Given the description of an element on the screen output the (x, y) to click on. 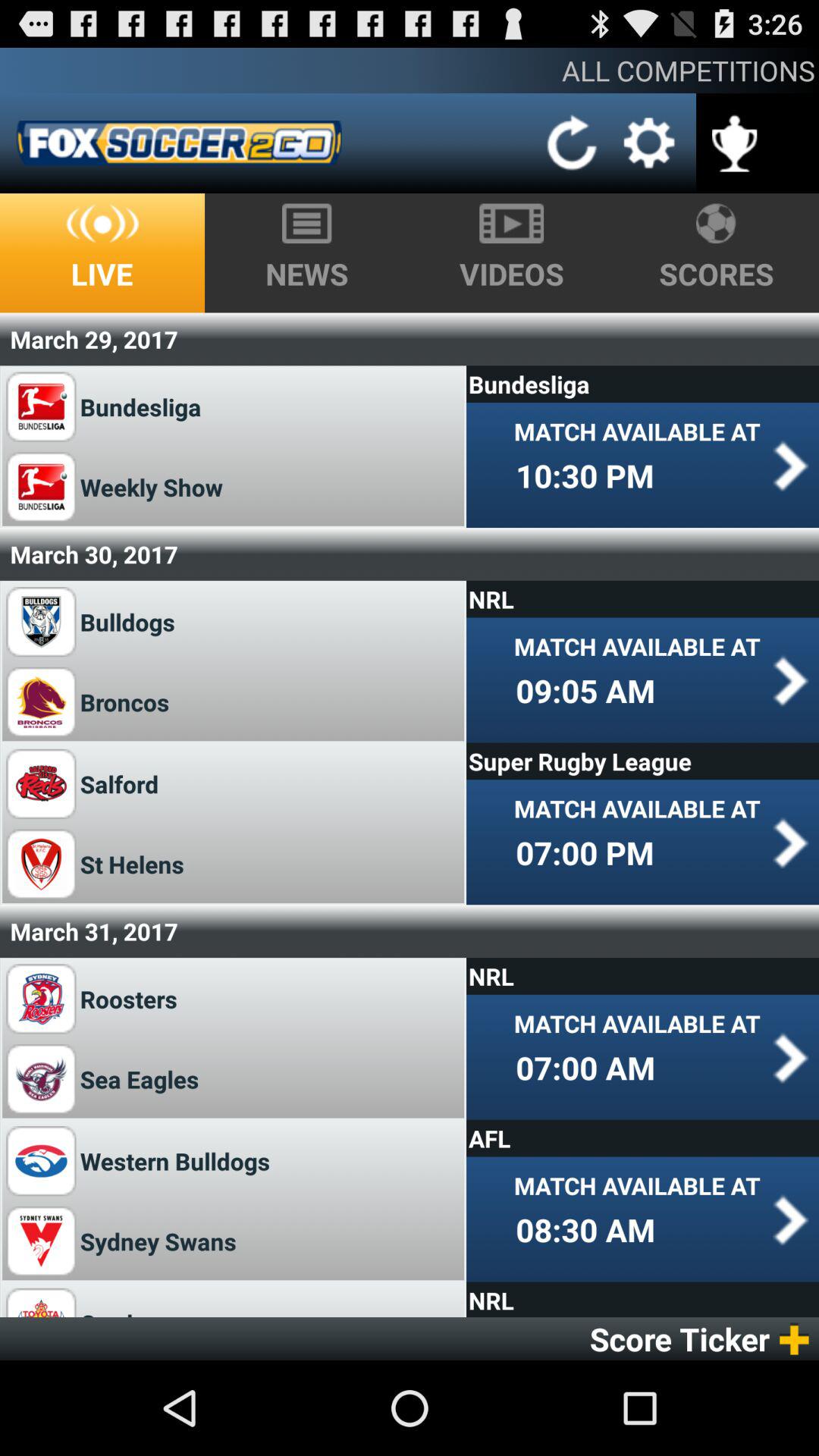
turn off app to the left of 09:05 am item (127, 701)
